Given the description of an element on the screen output the (x, y) to click on. 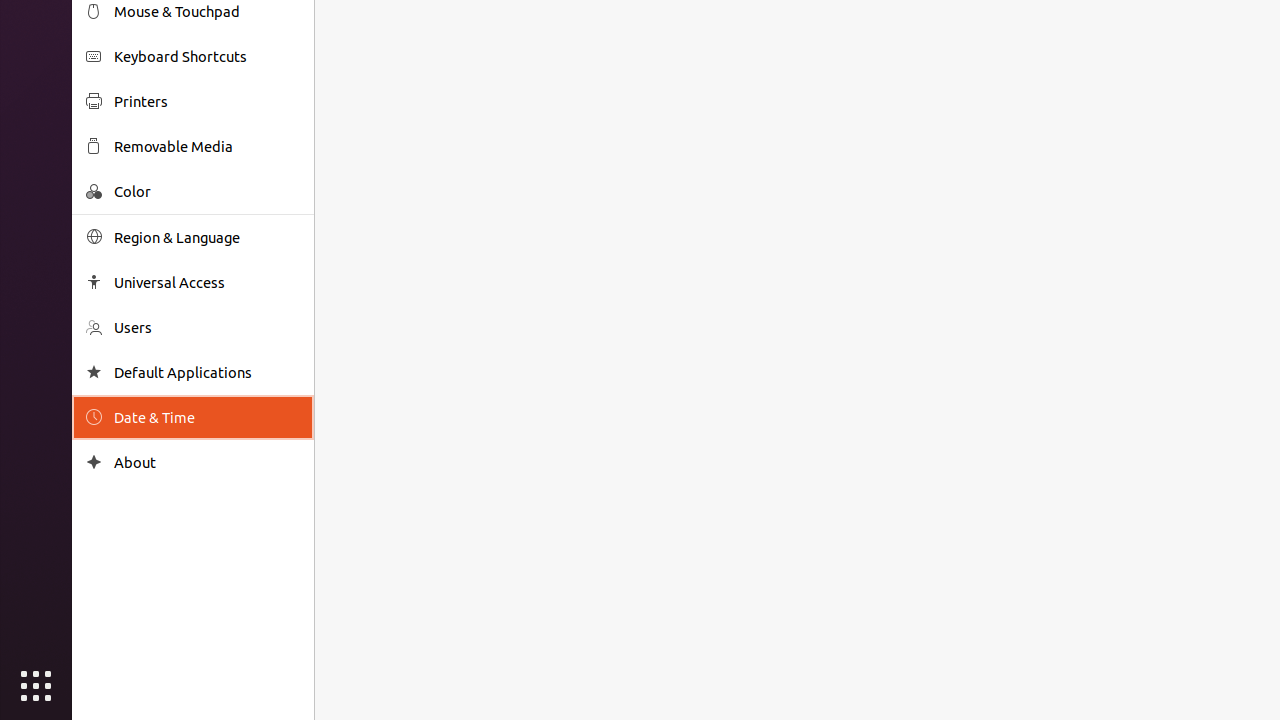
Color Element type: label (207, 191)
Printers Element type: label (207, 101)
Users Element type: label (207, 327)
About Element type: label (207, 462)
